Given the description of an element on the screen output the (x, y) to click on. 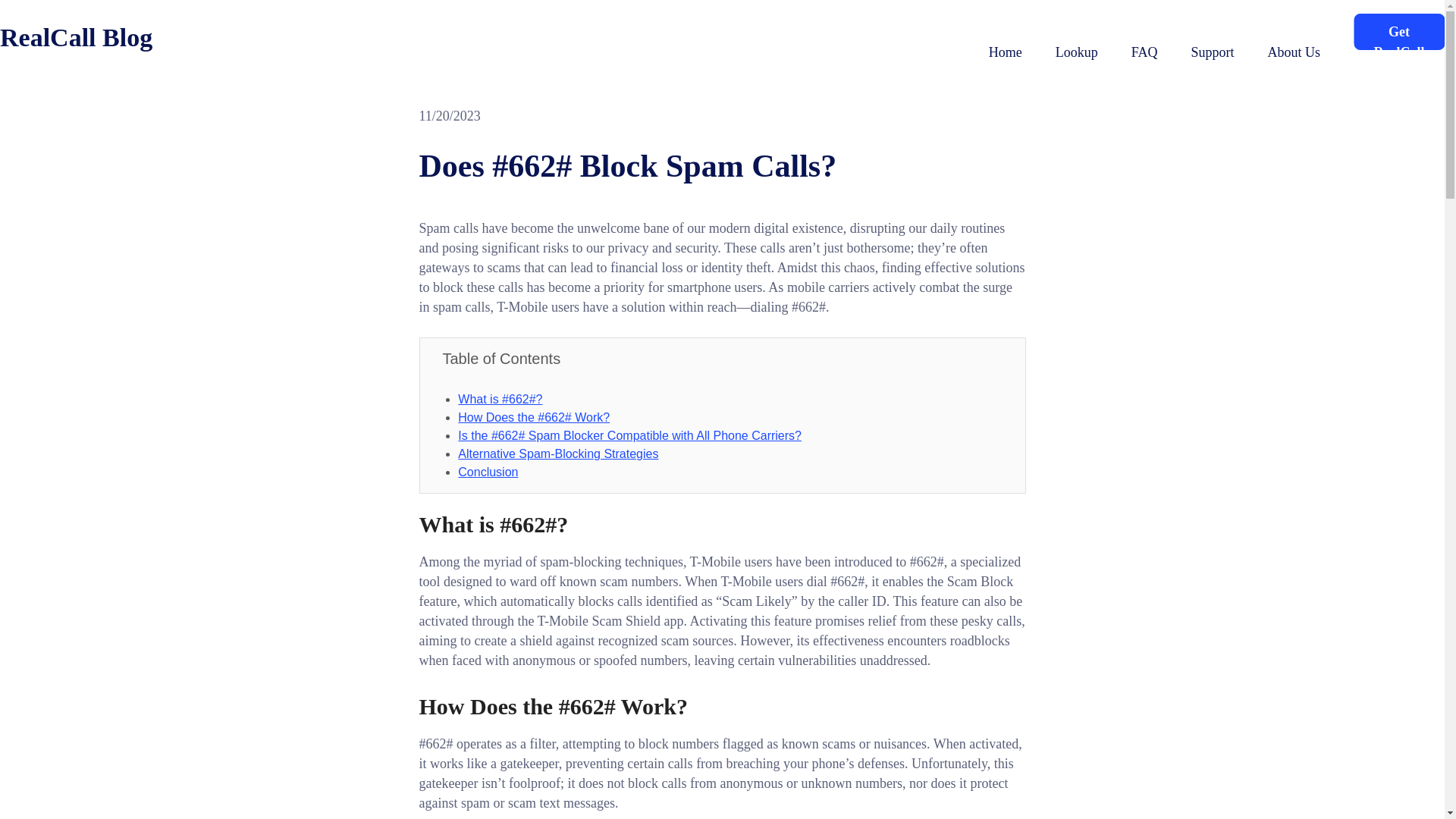
Home (1005, 51)
About Us (1293, 51)
Conclusion (488, 472)
RealCall Blog (76, 42)
Alternative Spam-Blocking Strategies (558, 453)
Support (1212, 51)
Lookup (1076, 51)
FAQ (1144, 51)
